Given the description of an element on the screen output the (x, y) to click on. 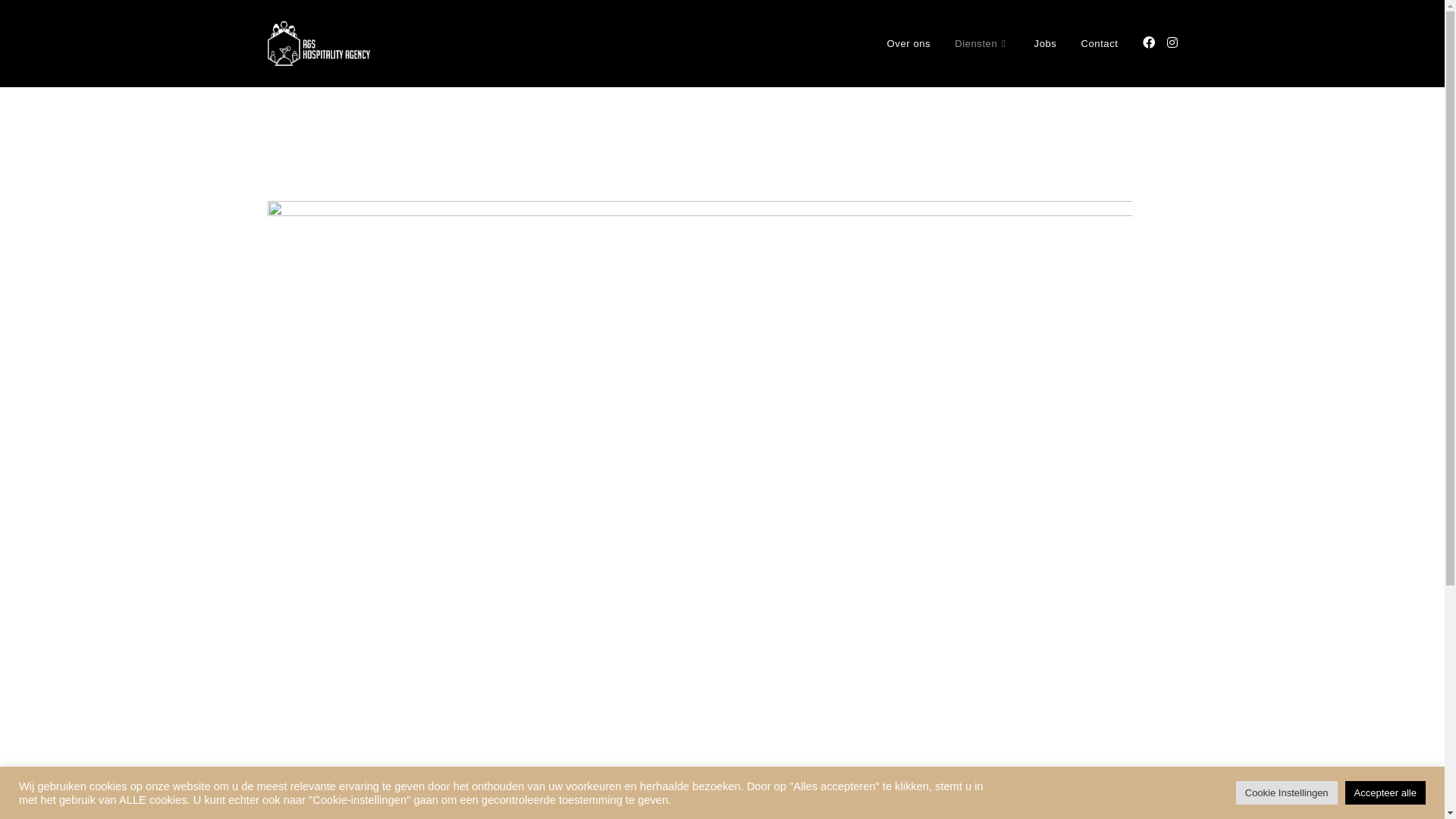
Over ons Element type: text (909, 43)
Accepteer alle Element type: text (1385, 792)
Contact Element type: text (1098, 43)
Diensten Element type: text (981, 43)
Jobs Element type: text (1045, 43)
Cookie Instellingen Element type: text (1286, 792)
